Given the description of an element on the screen output the (x, y) to click on. 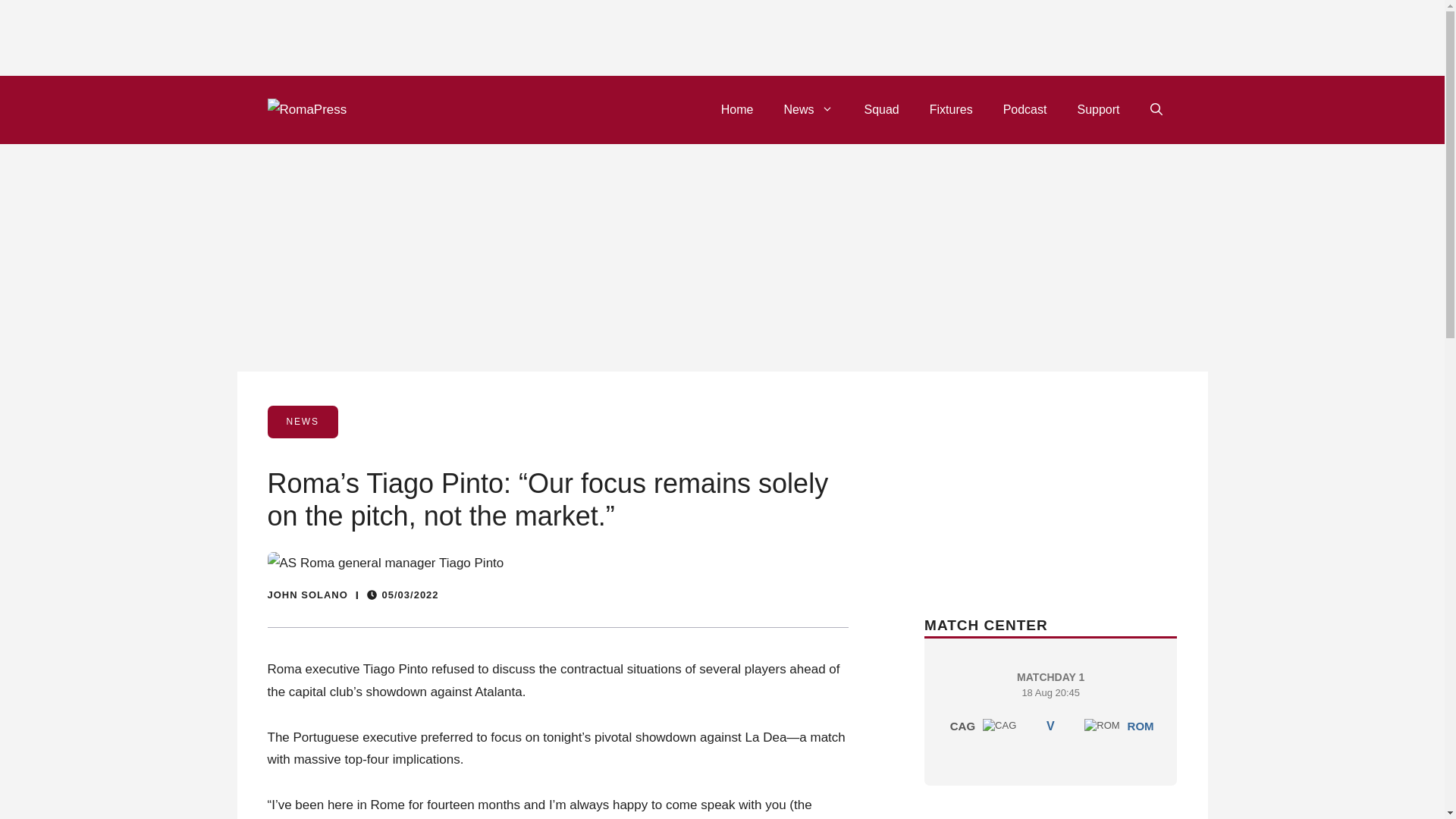
Squad (881, 109)
Podcast (1025, 109)
News (808, 109)
Fixtures (951, 109)
Support (1097, 109)
ROM (1050, 707)
CAG (1101, 725)
Home (999, 725)
ROM (737, 109)
